Given the description of an element on the screen output the (x, y) to click on. 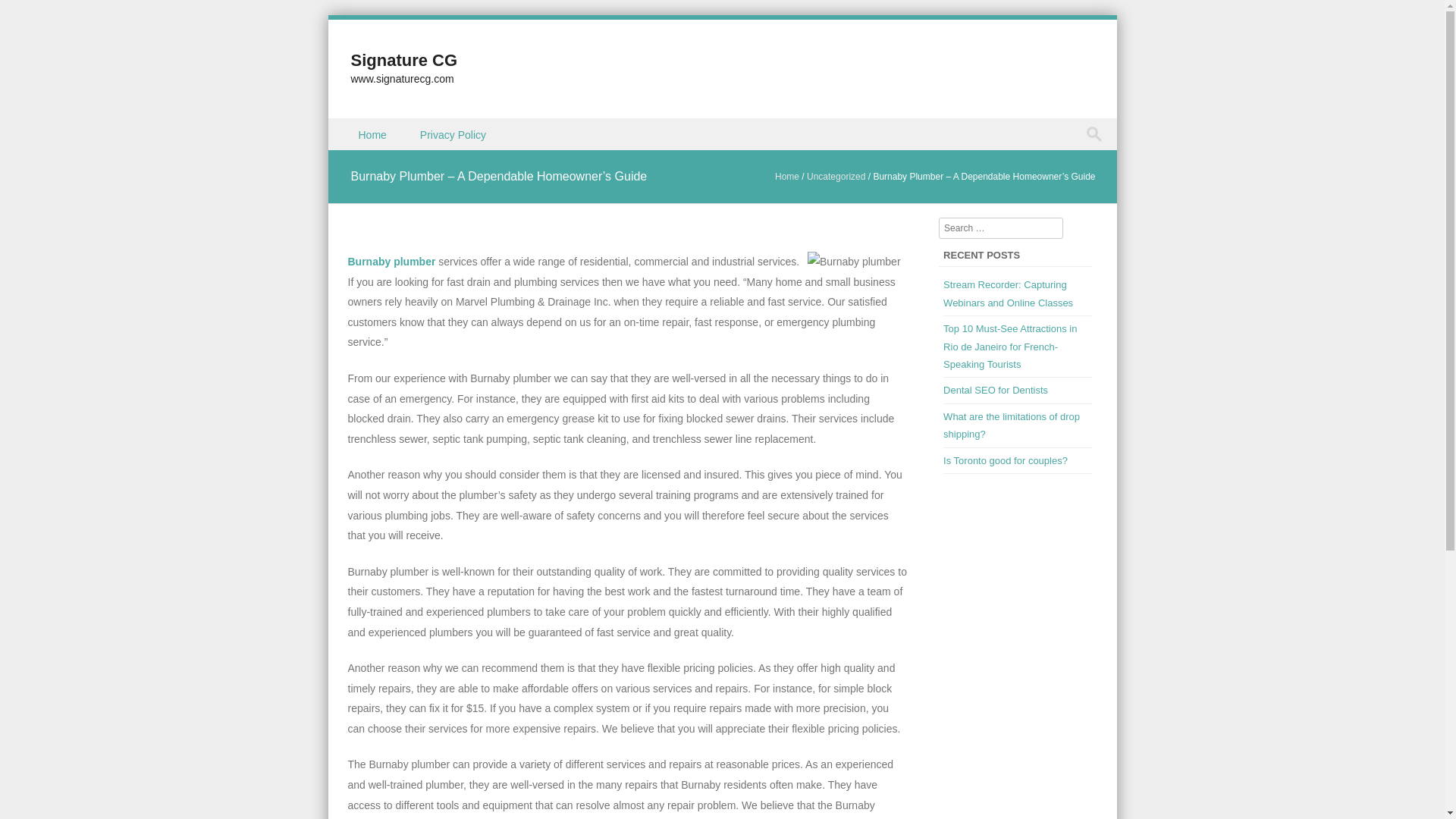
Signature CG (403, 59)
Dental SEO for Dentists (995, 389)
Privacy Policy (453, 133)
Navigation Toggle (353, 150)
Is Toronto good for couples? (1005, 460)
Uncategorized (835, 176)
Signature CG (403, 59)
Home (373, 133)
Skip to content (362, 128)
What are the limitations of drop shipping? (1011, 425)
Home (786, 176)
Search (26, 14)
Search for: (1097, 133)
Menu (353, 150)
